Given the description of an element on the screen output the (x, y) to click on. 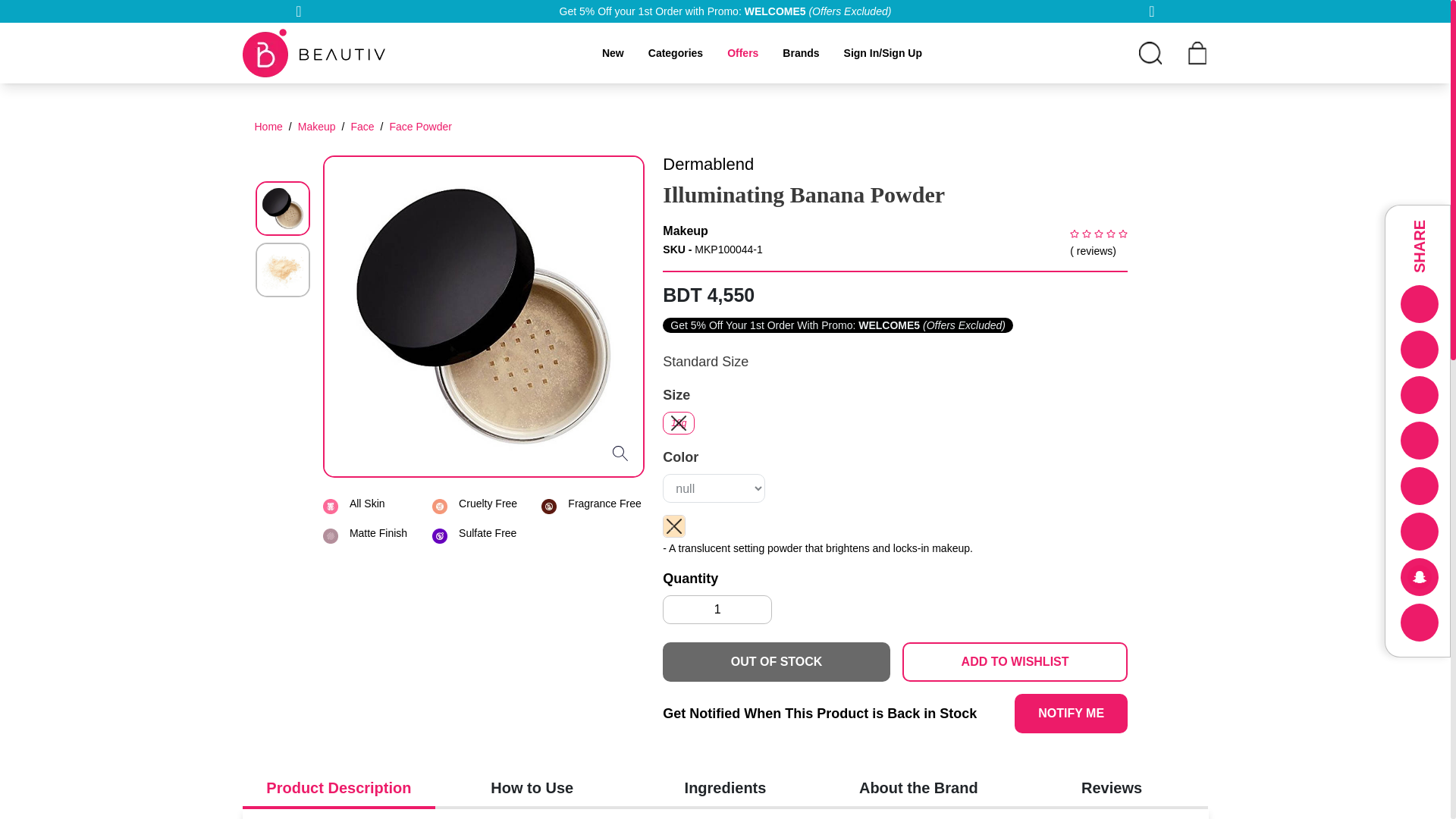
New (613, 52)
Categories (675, 52)
Previous (298, 11)
Next (1151, 11)
